Given the description of an element on the screen output the (x, y) to click on. 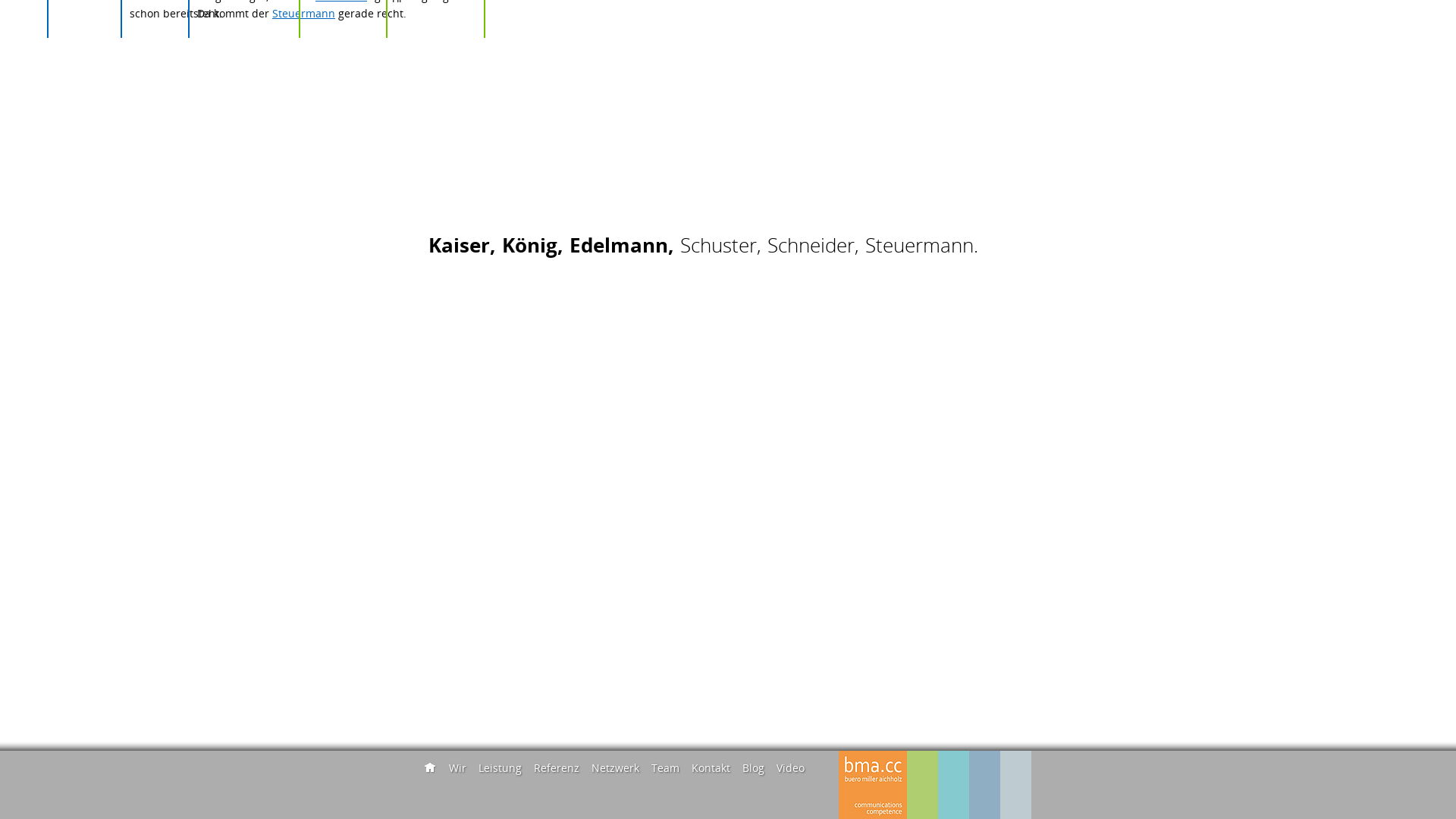
Blog Element type: text (753, 767)
Kontakt Element type: text (710, 767)
Wir Element type: text (457, 767)
Steuermann Element type: text (303, 13)
Referenz Element type: text (556, 767)
Netzwerk Element type: text (615, 767)
Team Element type: text (665, 767)
Leistung Element type: text (499, 767)
Video Element type: text (790, 767)
